Given the description of an element on the screen output the (x, y) to click on. 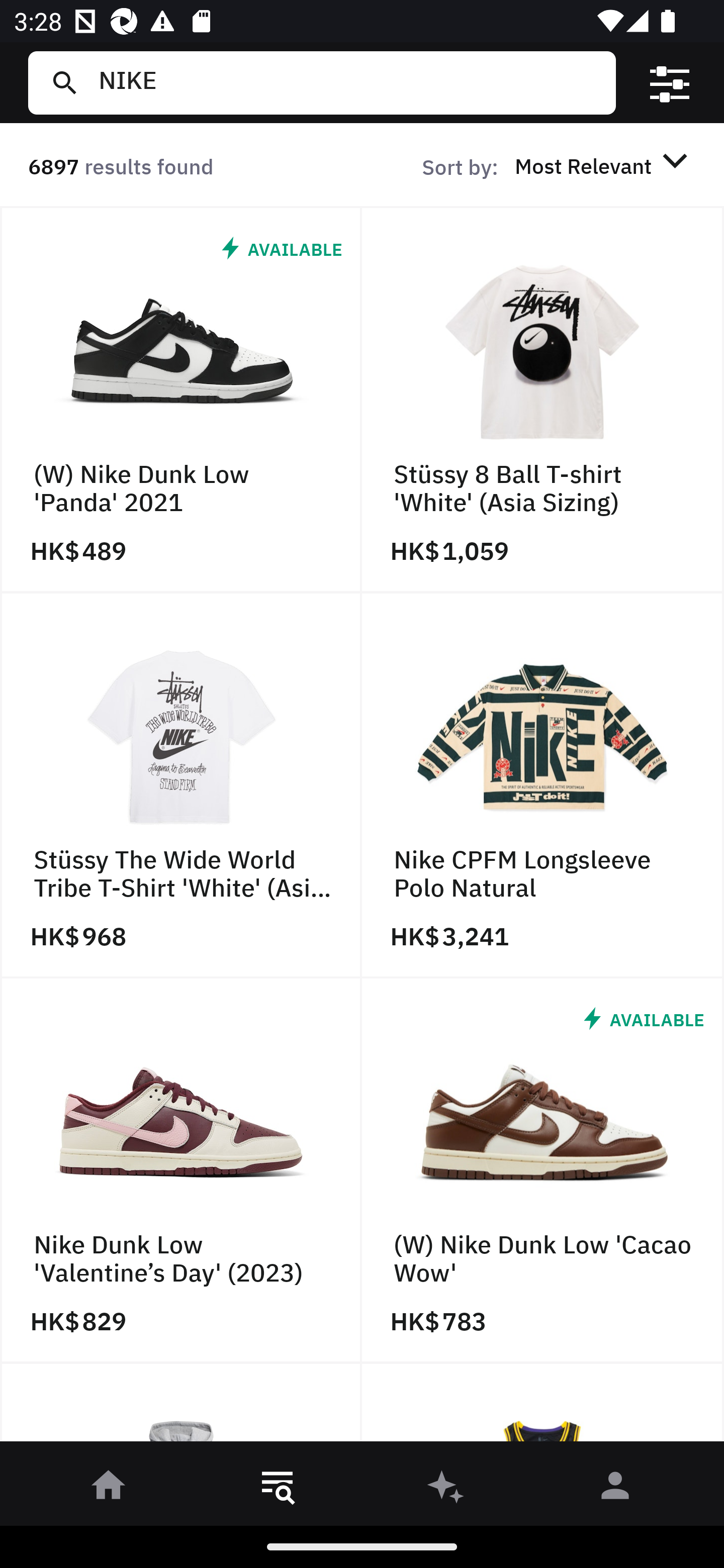
NIKE (349, 82)
 (669, 82)
Most Relevant  (604, 165)
 AVAILABLE (W) Nike Dunk Low 'Panda' 2021 HK$ 489 (181, 399)
Nike CPFM Longsleeve Polo Natural HK$ 3,241 (543, 785)
Nike Dunk Low 'Valentine’s Day' (2023) HK$ 829 (181, 1171)
 AVAILABLE (W) Nike Dunk Low 'Cacao Wow' HK$ 783 (543, 1171)
󰋜 (108, 1488)
󱎸 (277, 1488)
󰫢 (446, 1488)
󰀄 (615, 1488)
